Given the description of an element on the screen output the (x, y) to click on. 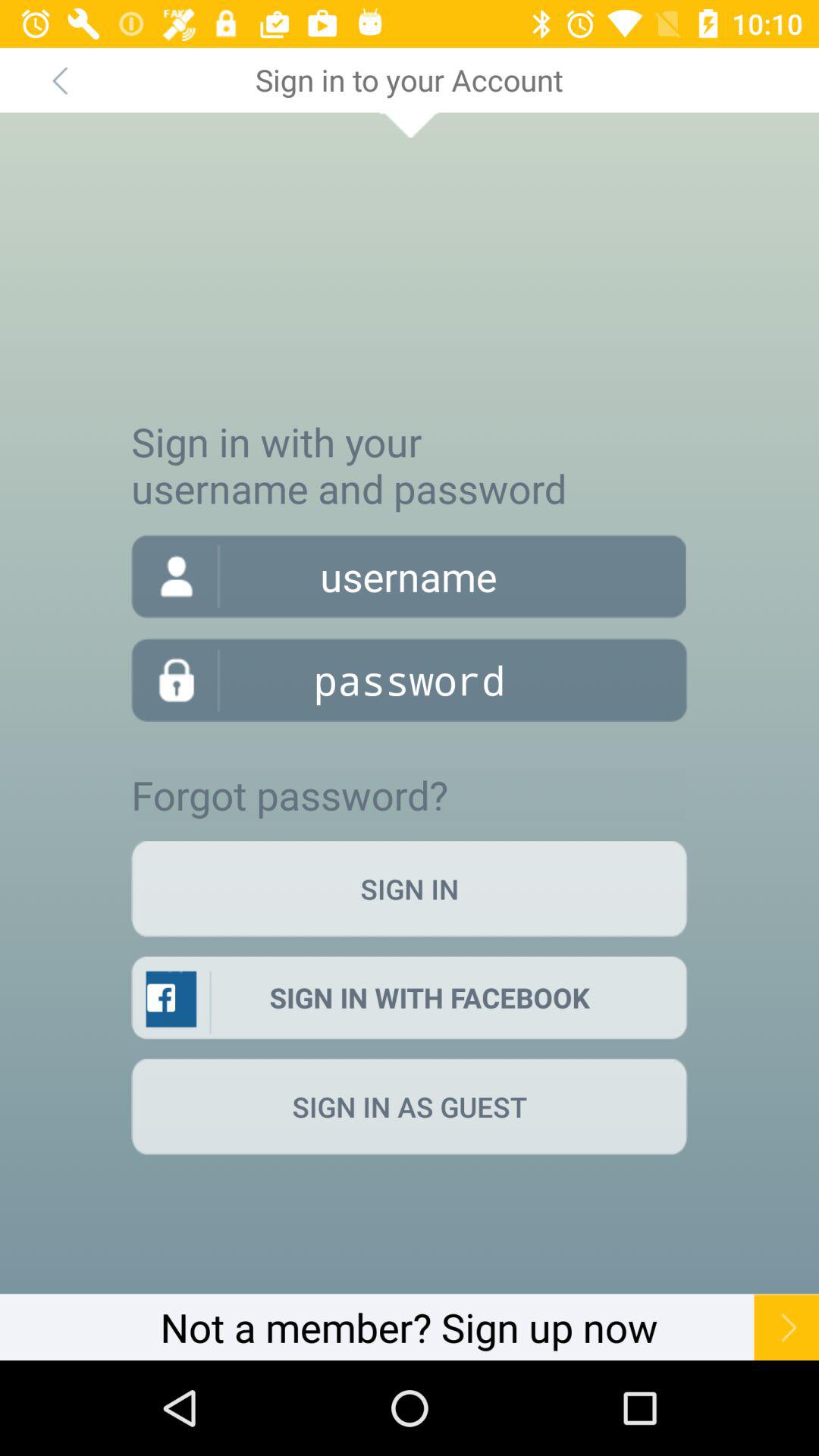
password (409, 679)
